Given the description of an element on the screen output the (x, y) to click on. 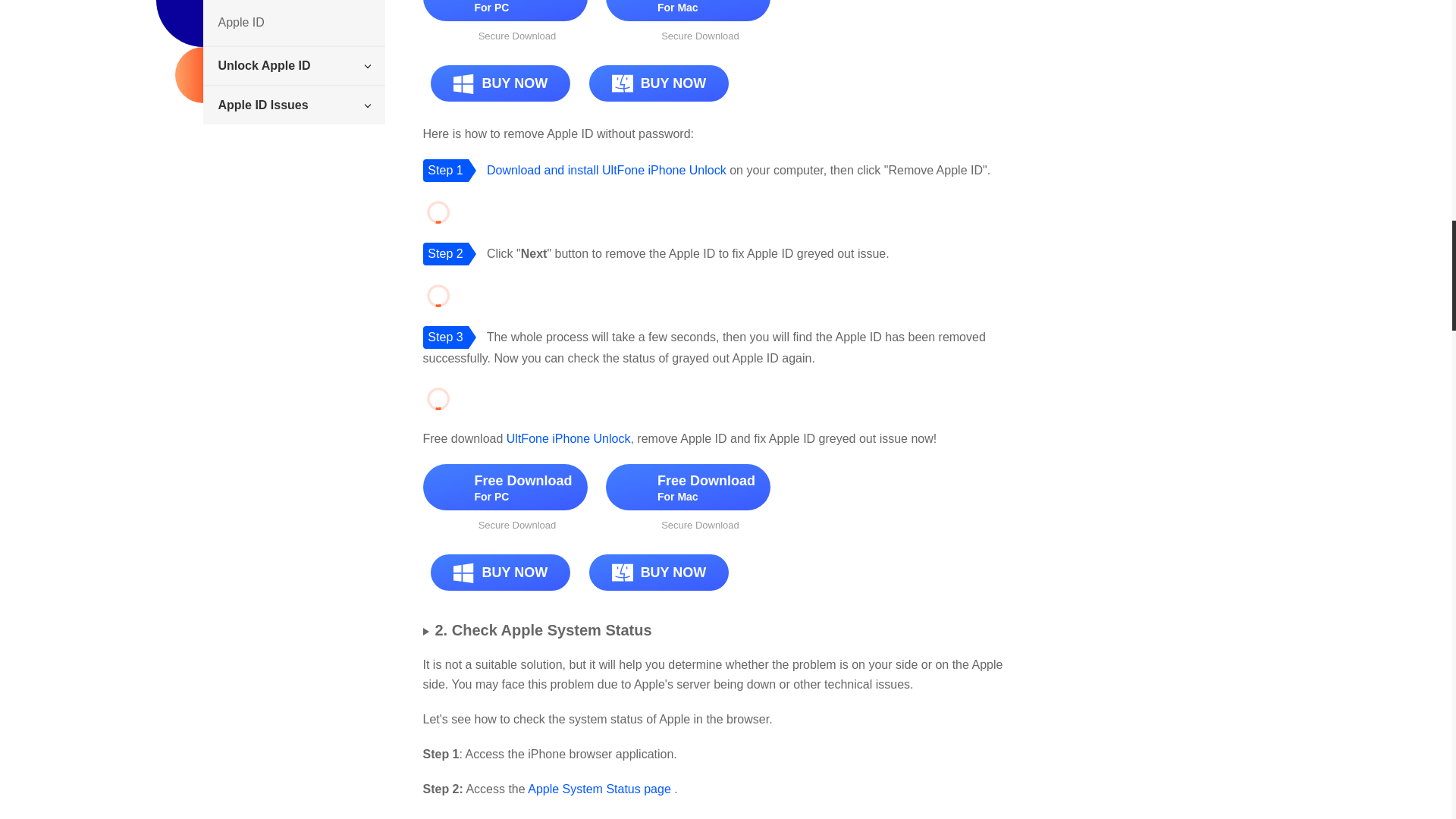
apple system status (599, 788)
download-and-install-ultfone-toolkit (606, 169)
